Given the description of an element on the screen output the (x, y) to click on. 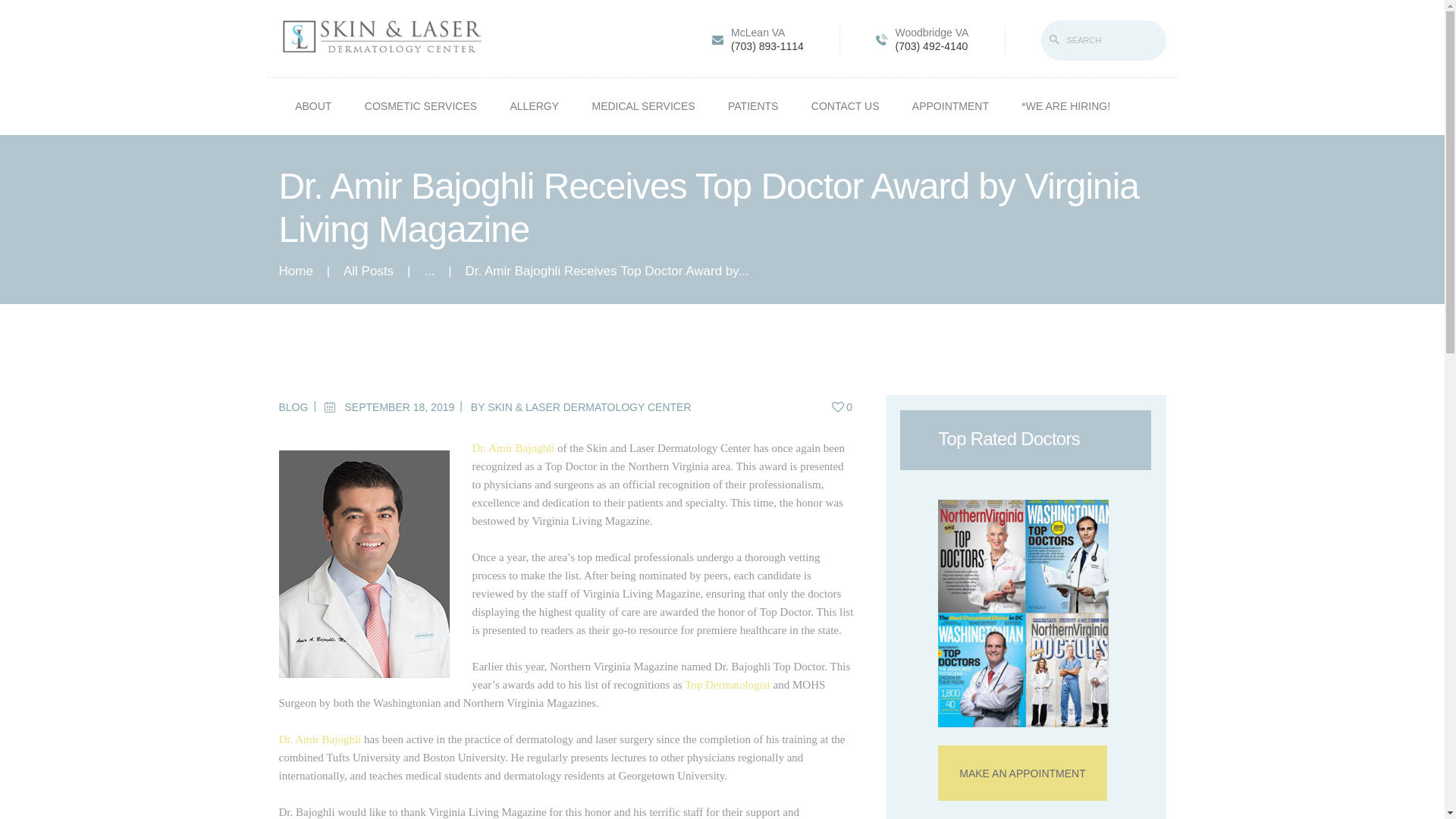
COSMETIC SERVICES (420, 106)
Like (843, 407)
ABOUT (314, 106)
